Given the description of an element on the screen output the (x, y) to click on. 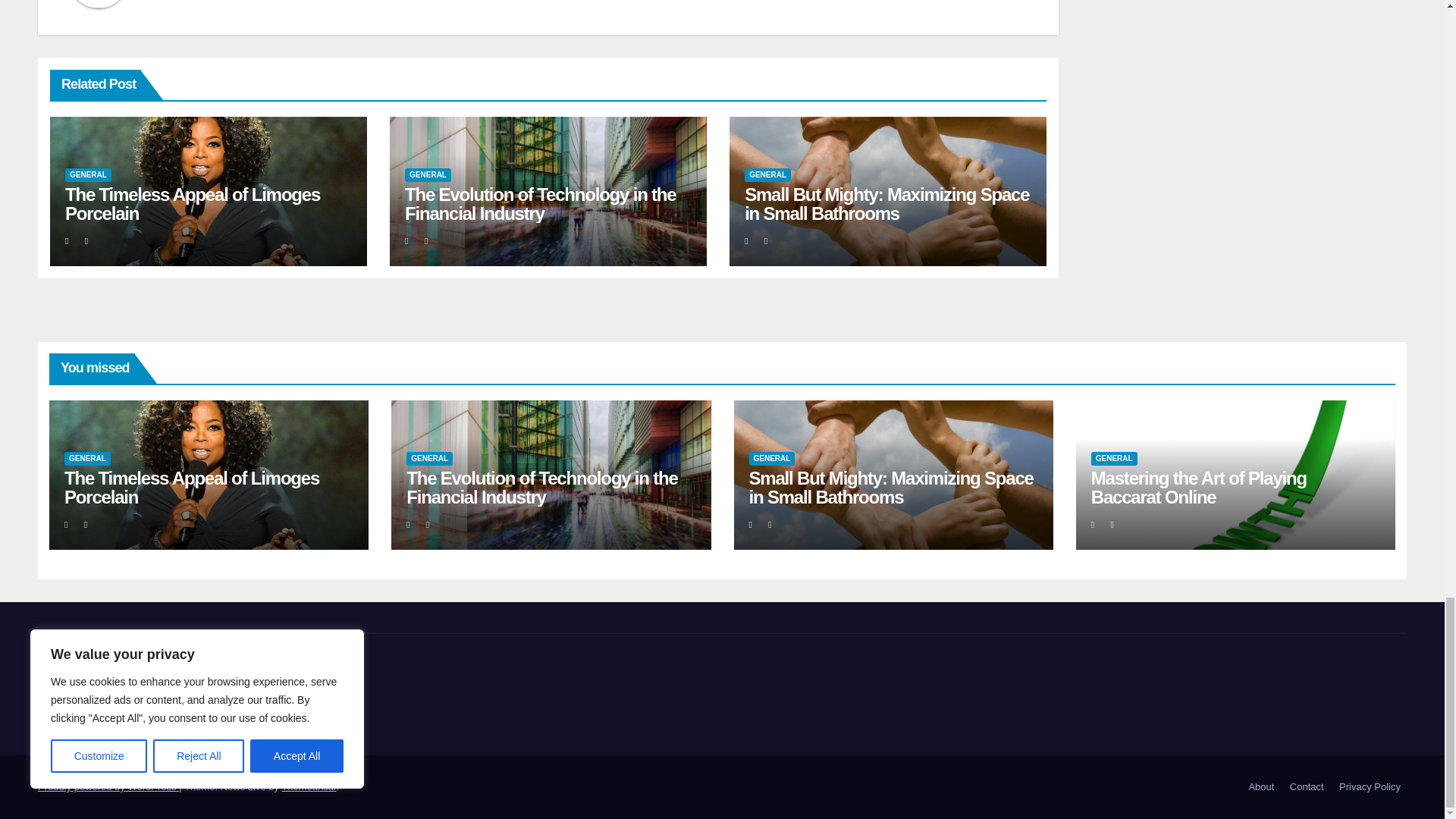
About (1260, 786)
Permalink to: The Timeless Appeal of Limoges Porcelain (191, 486)
Contact (1307, 786)
Privacy Policy (1369, 786)
Permalink to: Mastering the Art of Playing Baccarat Online (1198, 486)
Permalink to: The Timeless Appeal of Limoges Porcelain (192, 203)
